Given the description of an element on the screen output the (x, y) to click on. 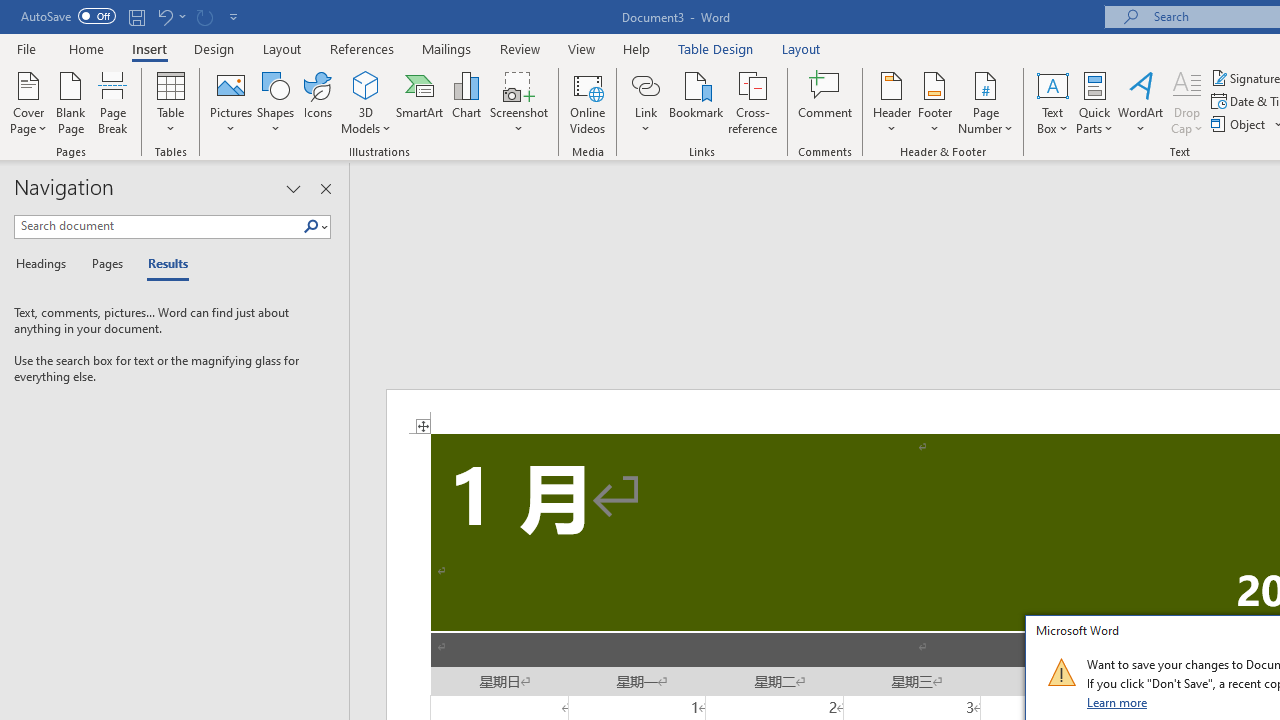
Link (645, 84)
Screenshot (518, 102)
Footer (934, 102)
Shapes (275, 102)
Blank Page (70, 102)
Object... (1240, 124)
